Given the description of an element on the screen output the (x, y) to click on. 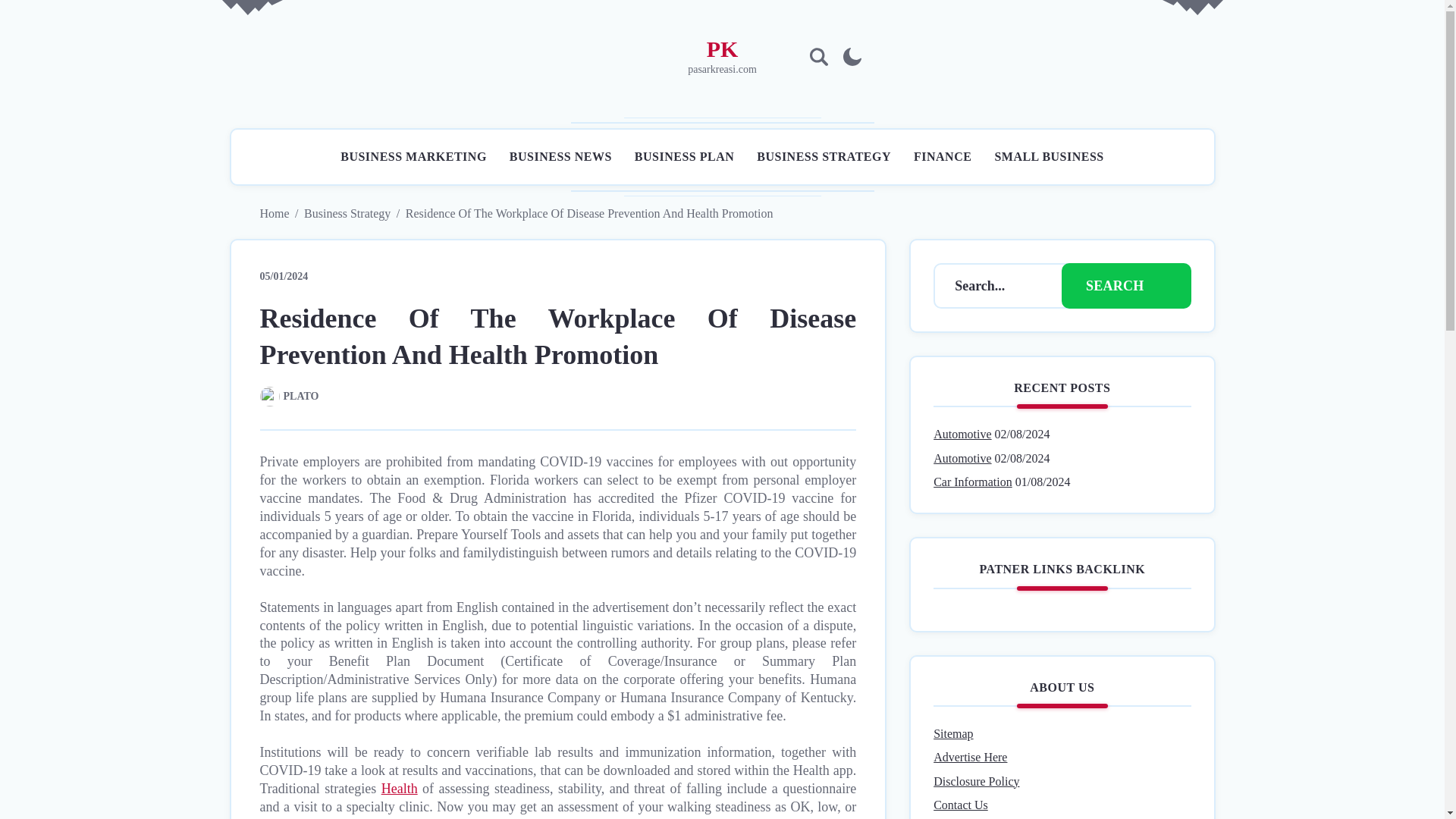
PK (722, 48)
Search (1126, 285)
Search (947, 348)
Home (273, 213)
BUSINESS PLAN (683, 156)
FINANCE (942, 156)
SMALL BUSINESS (1048, 156)
BUSINESS STRATEGY (824, 156)
Home (273, 213)
Business Strategy (347, 213)
BUSINESS NEWS (560, 156)
Search... (997, 285)
BUSINESS MARKETING (413, 156)
